Given the description of an element on the screen output the (x, y) to click on. 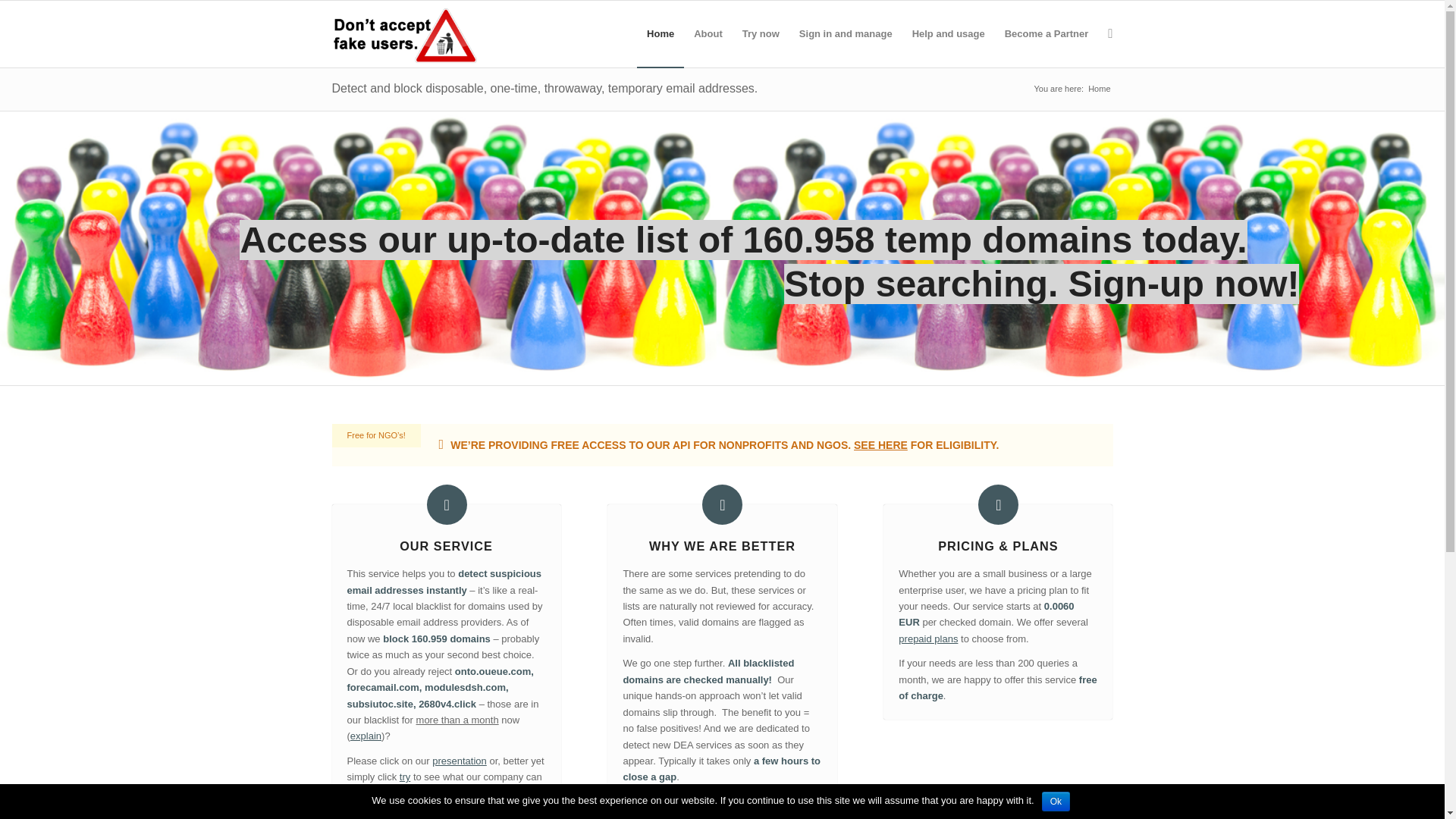
Try now Element type: text (760, 33)
Sign in and manage Element type: text (845, 33)
prepaid plans Element type: text (927, 638)
try Element type: text (404, 776)
Access our up-to-date list of 160.958 temp domains today. Element type: text (742, 239)
Help and usage Element type: text (948, 33)
About Element type: text (708, 33)
presentation Element type: text (459, 760)
explain Element type: text (365, 735)
Become a Partner Element type: text (1046, 33)
SEE HERE Element type: text (880, 445)
PRICING & PLANS Element type: text (998, 545)
Home Element type: text (660, 33)
Ok Element type: text (1055, 801)
